Given the description of an element on the screen output the (x, y) to click on. 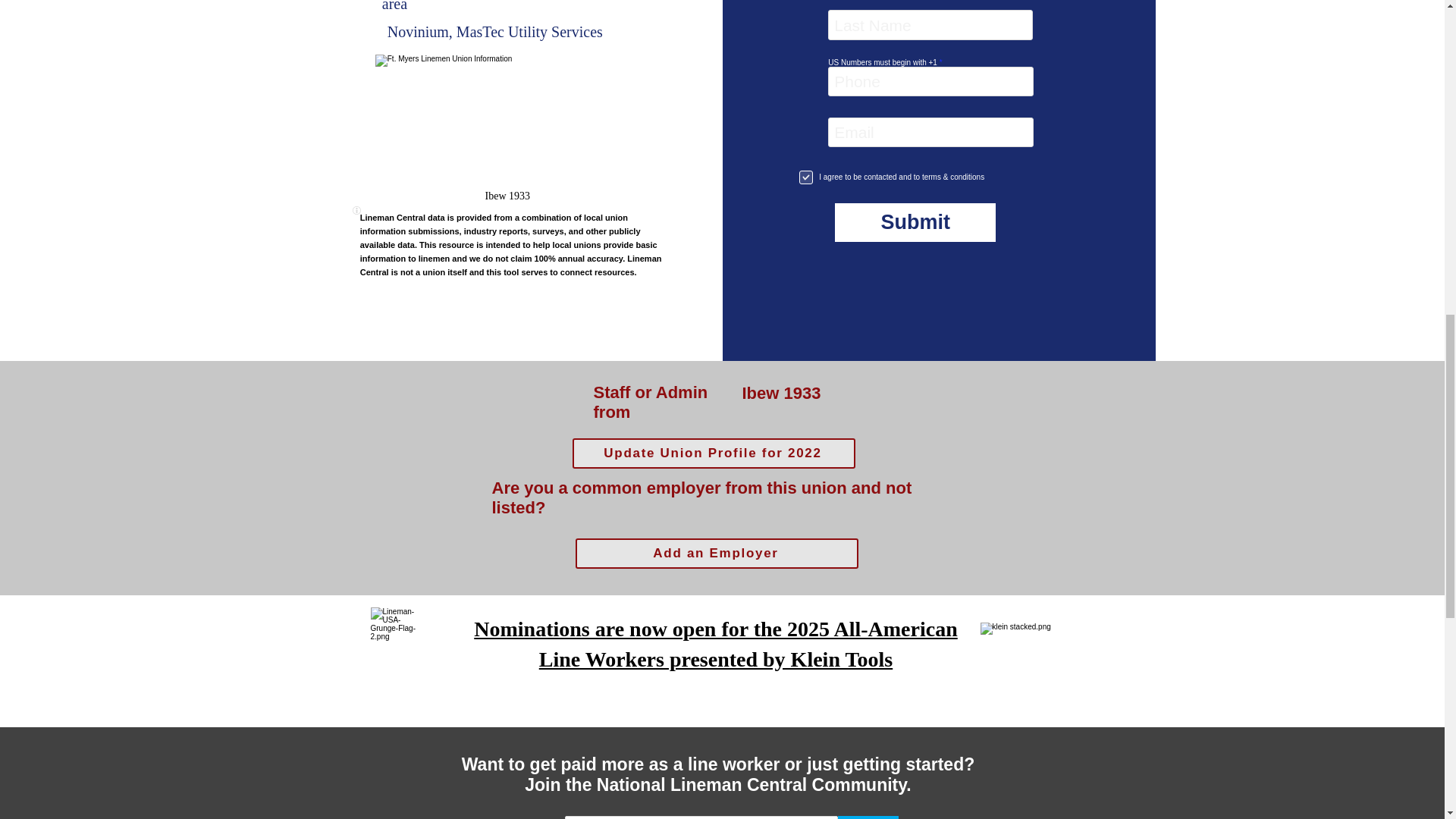
Submit (914, 222)
Join (867, 817)
LOCAL 1933 LINEMAN.jpeg (507, 121)
Add an Employer (716, 553)
Update Union Profile for 2022 (713, 453)
